Given the description of an element on the screen output the (x, y) to click on. 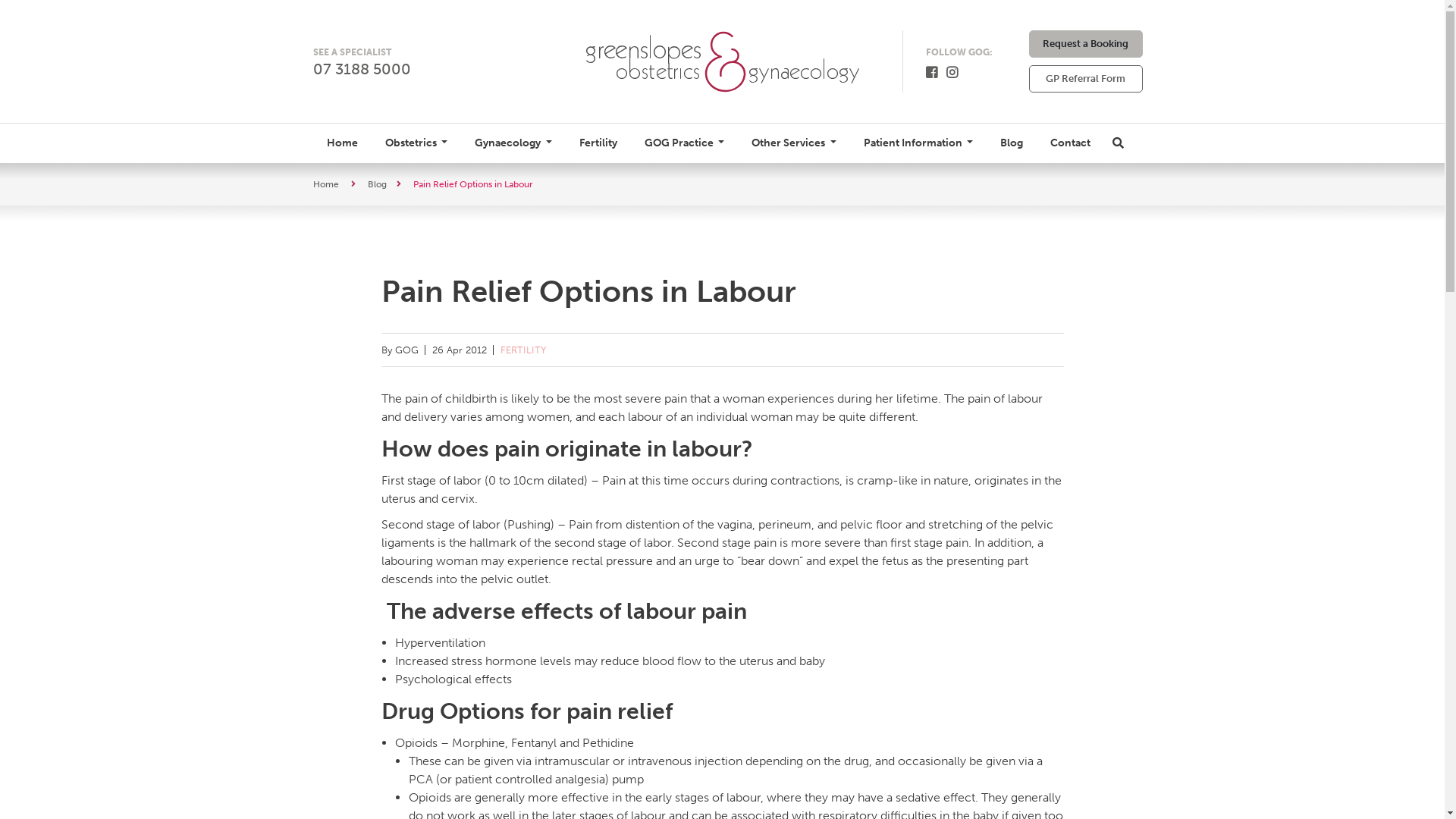
Patient Information Element type: text (918, 143)
Instagram Element type: hover (951, 71)
GOG Practice Element type: text (684, 143)
Obstetrics Element type: text (416, 143)
Facebook Element type: hover (930, 71)
Contact Element type: text (1070, 143)
Request a Booking Element type: text (1085, 43)
GP Referral Form Element type: text (1085, 78)
FERTILITY Element type: text (523, 349)
Home Element type: text (325, 184)
Gynaecology Element type: text (513, 143)
Other Services Element type: text (793, 143)
Blog Element type: text (376, 184)
Blog Element type: text (1011, 143)
Home Element type: text (342, 143)
Logo Element type: text (721, 60)
Fertility Element type: text (597, 143)
07 3188 5000 Element type: text (361, 68)
